Given the description of an element on the screen output the (x, y) to click on. 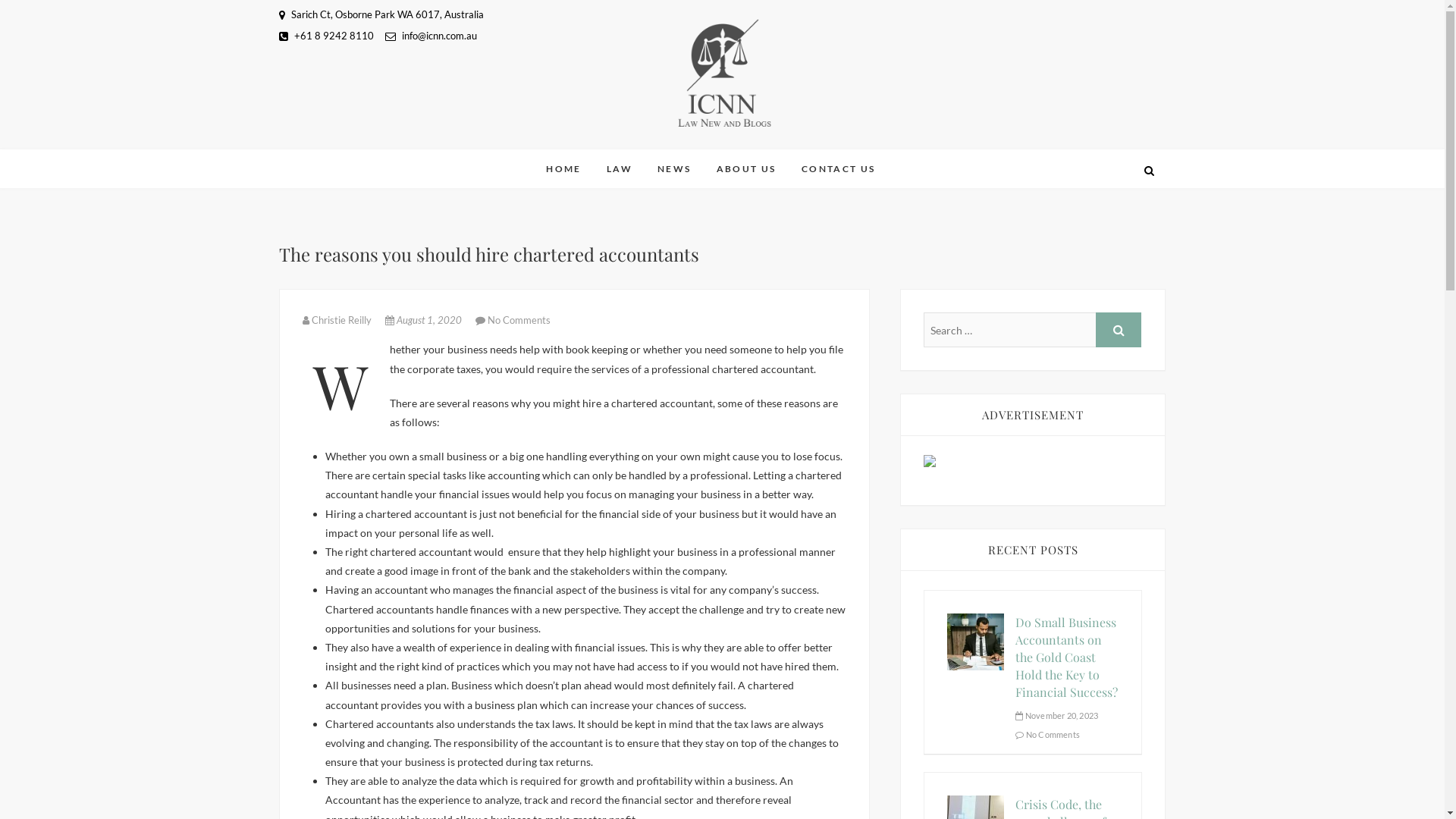
NEWS Element type: text (674, 168)
No Comments Element type: text (1047, 734)
Christie Reilly Element type: text (337, 319)
info@icnn.com.au Element type: text (430, 35)
ABOUT US Element type: text (746, 168)
LAW Element type: text (619, 168)
Sarich Ct, Osborne Park WA 6017, Australia Element type: text (381, 14)
ICNN Element type: text (581, 152)
August 1, 2020 Element type: text (424, 319)
HOME Element type: text (563, 168)
Crisis Code, the new challenges for the lawyer Element type: hover (975, 804)
CONTACT US Element type: text (838, 168)
November 20, 2023 Element type: text (1056, 715)
No Comments Element type: text (517, 319)
+61 8 9242 8110 Element type: text (326, 35)
